Given the description of an element on the screen output the (x, y) to click on. 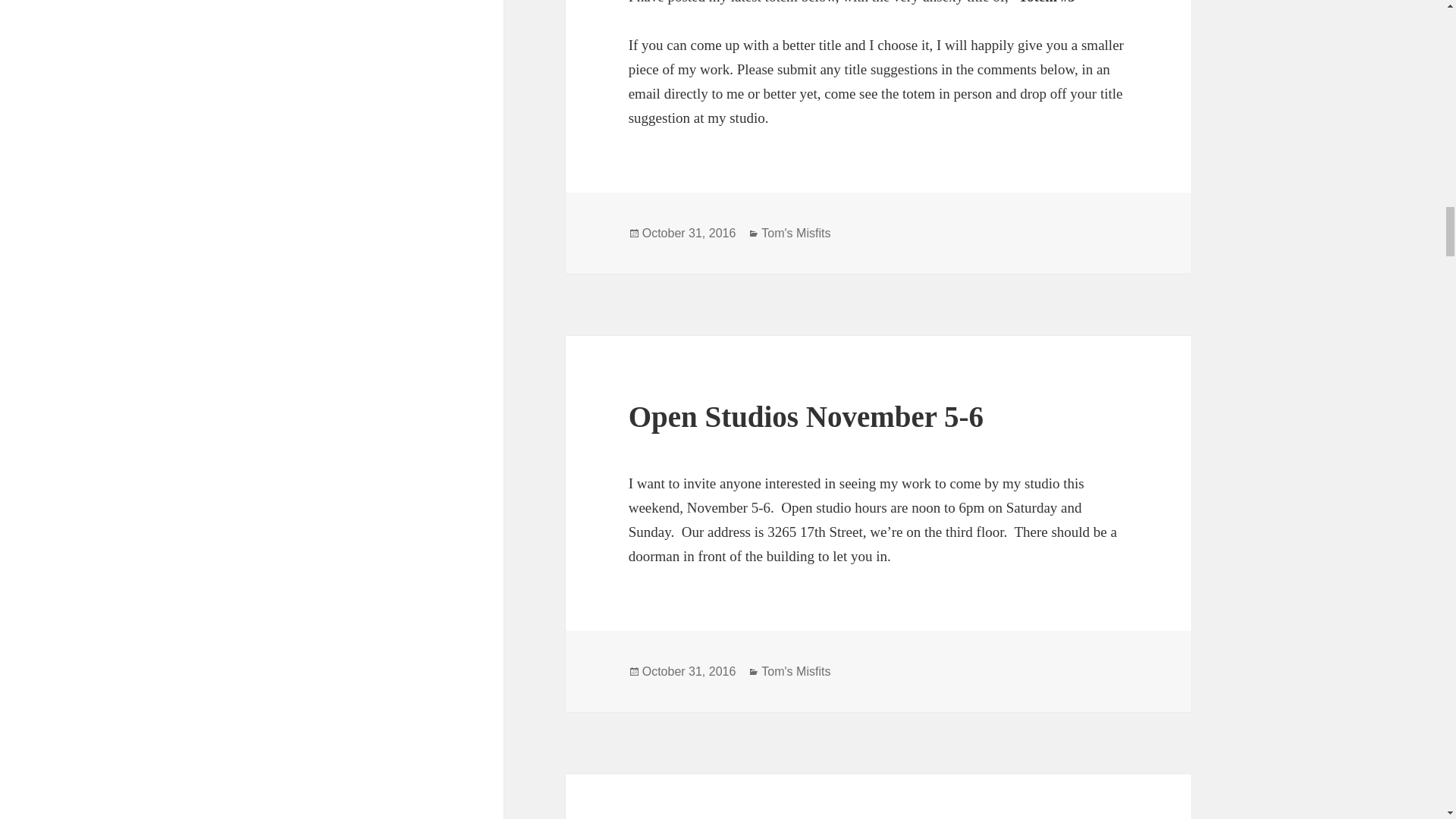
Tom's Misfits (795, 233)
October 31, 2016 (689, 671)
October 31, 2016 (689, 233)
Tom's Misfits (795, 671)
Open Studios November 5-6 (806, 416)
